Given the description of an element on the screen output the (x, y) to click on. 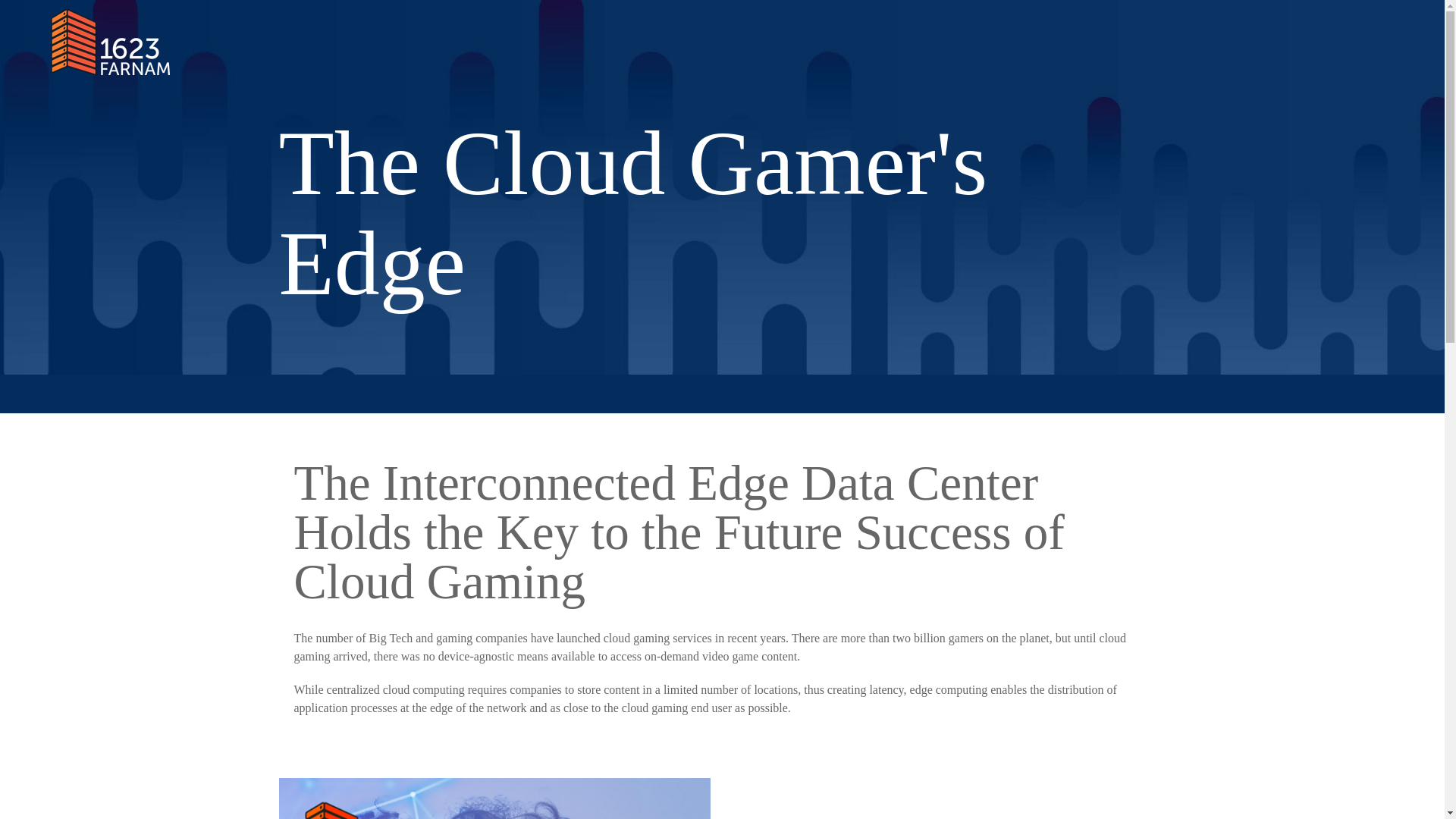
1623 Farnam (110, 42)
